Given the description of an element on the screen output the (x, y) to click on. 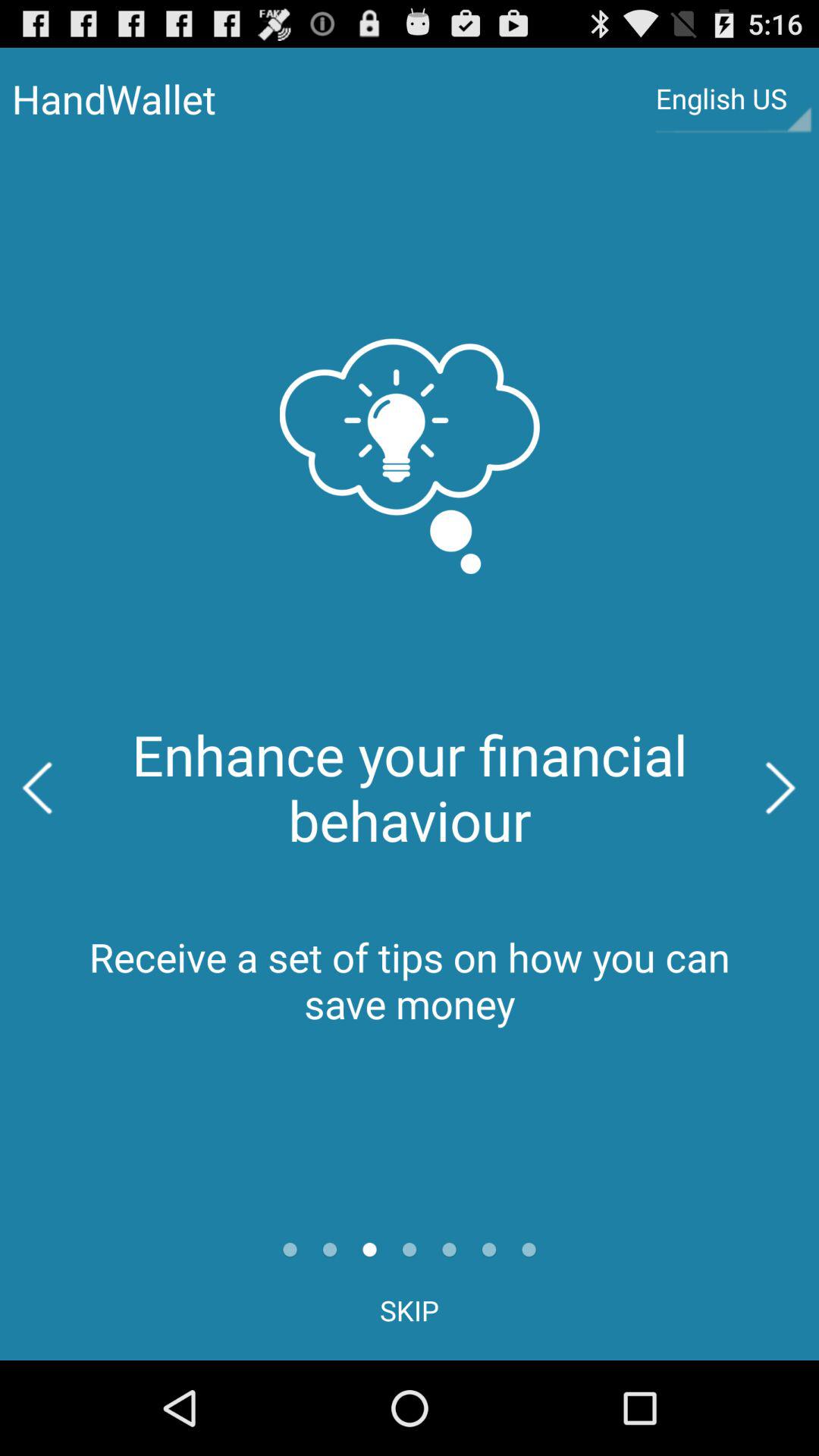
next (781, 787)
